Given the description of an element on the screen output the (x, y) to click on. 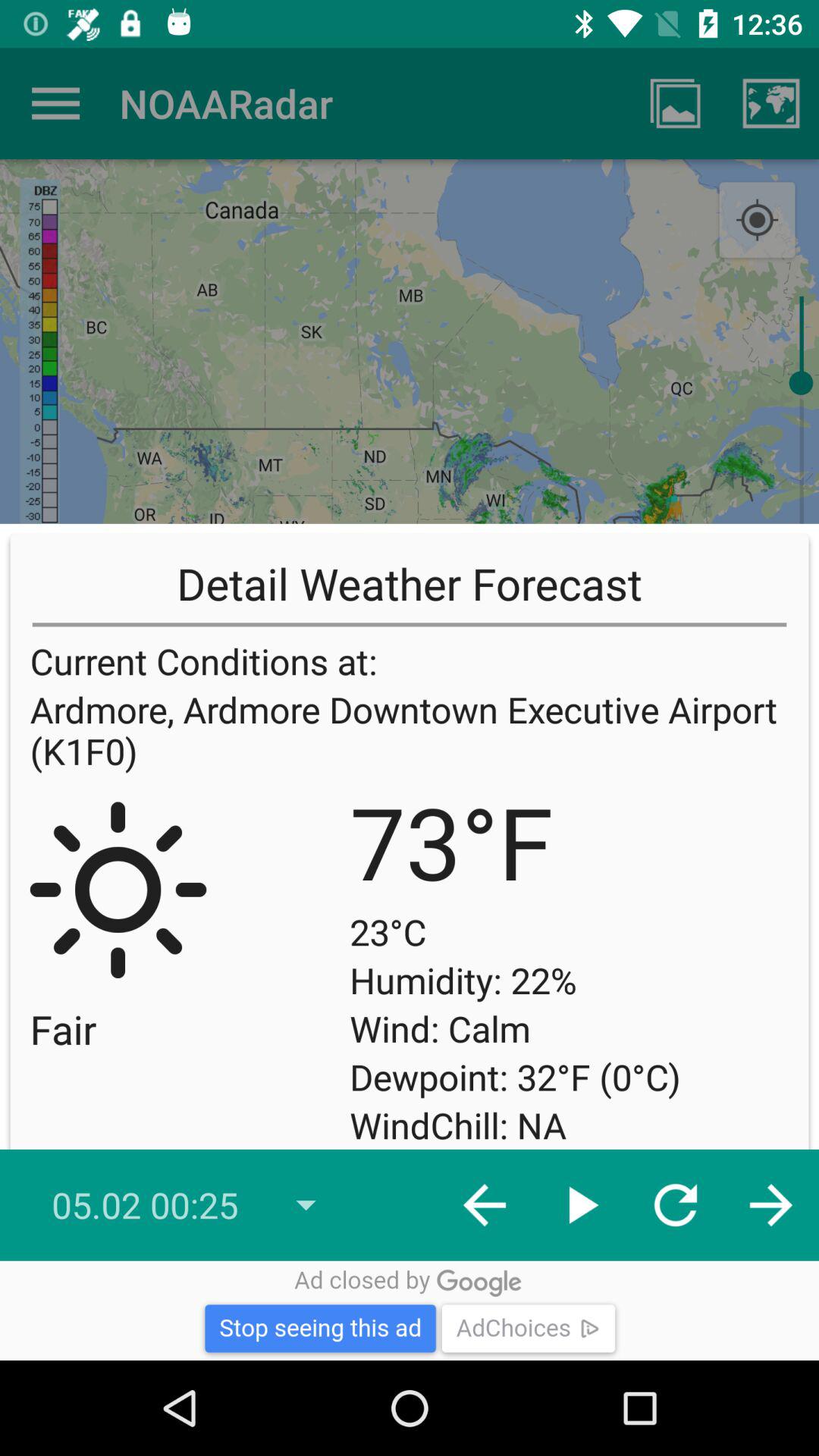
launch the app next to the noaaradar (55, 103)
